Given the description of an element on the screen output the (x, y) to click on. 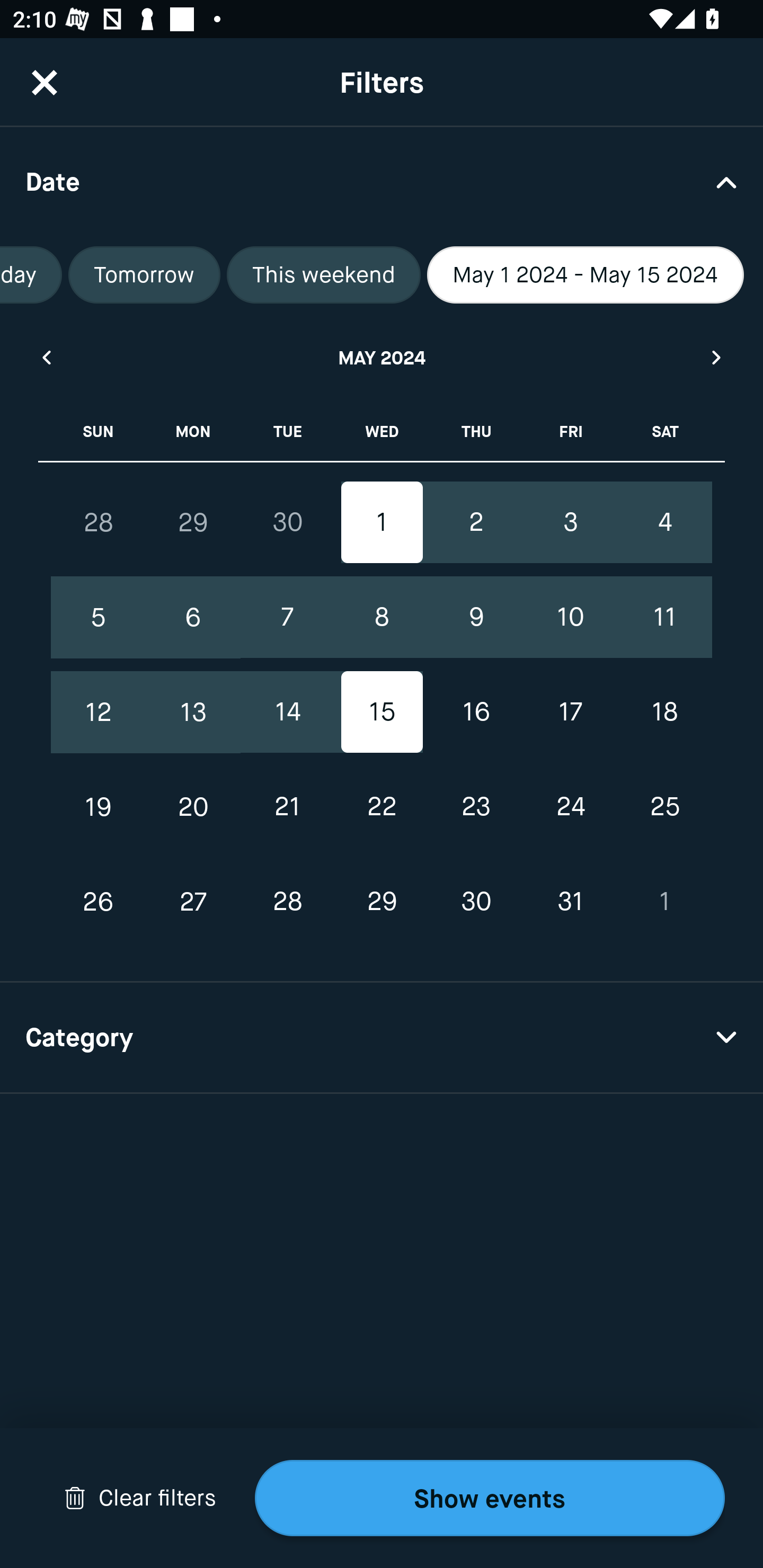
CloseButton (44, 82)
Date Drop Down Arrow (381, 181)
Today (30, 274)
Tomorrow (144, 274)
This weekend (323, 274)
May 1 2024 - May 15 2024 (585, 274)
Previous (45, 357)
Next (717, 357)
28 (98, 522)
29 (192, 522)
30 (287, 522)
1 (381, 522)
2 (475, 522)
3 (570, 522)
4 (664, 522)
5 (98, 617)
6 (192, 617)
7 (287, 617)
8 (381, 617)
9 (475, 617)
10 (570, 617)
11 (664, 617)
12 (98, 711)
13 (192, 711)
14 (287, 711)
15 (381, 711)
16 (475, 711)
17 (570, 711)
18 (664, 711)
19 (98, 806)
20 (192, 806)
21 (287, 806)
22 (381, 806)
23 (475, 806)
24 (570, 806)
25 (664, 806)
26 (98, 901)
27 (192, 901)
28 (287, 901)
29 (381, 901)
30 (475, 901)
31 (570, 901)
1 (664, 901)
Category Drop Down Arrow (381, 1038)
Drop Down Arrow Clear filters (139, 1497)
Show events (489, 1497)
